Given the description of an element on the screen output the (x, y) to click on. 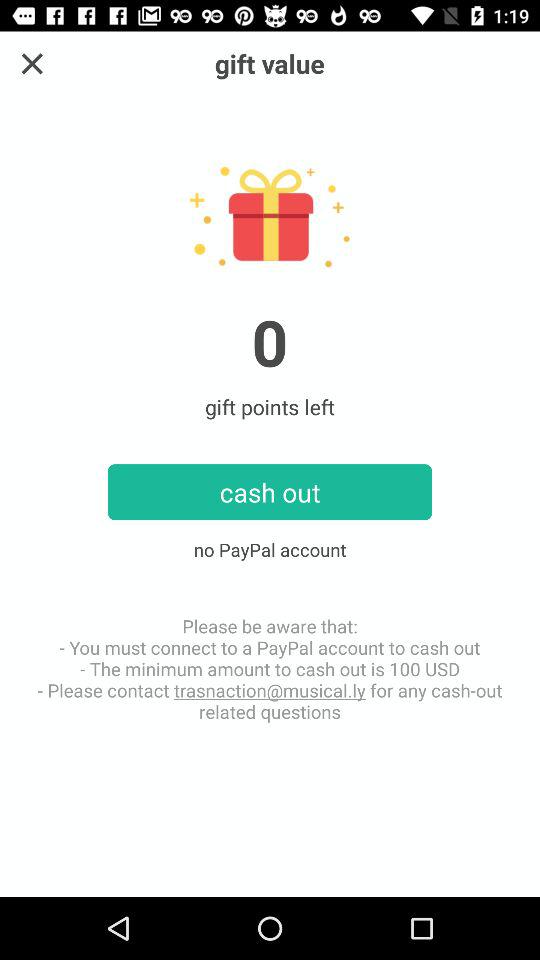
tap the item to the left of the gift value app (32, 63)
